Given the description of an element on the screen output the (x, y) to click on. 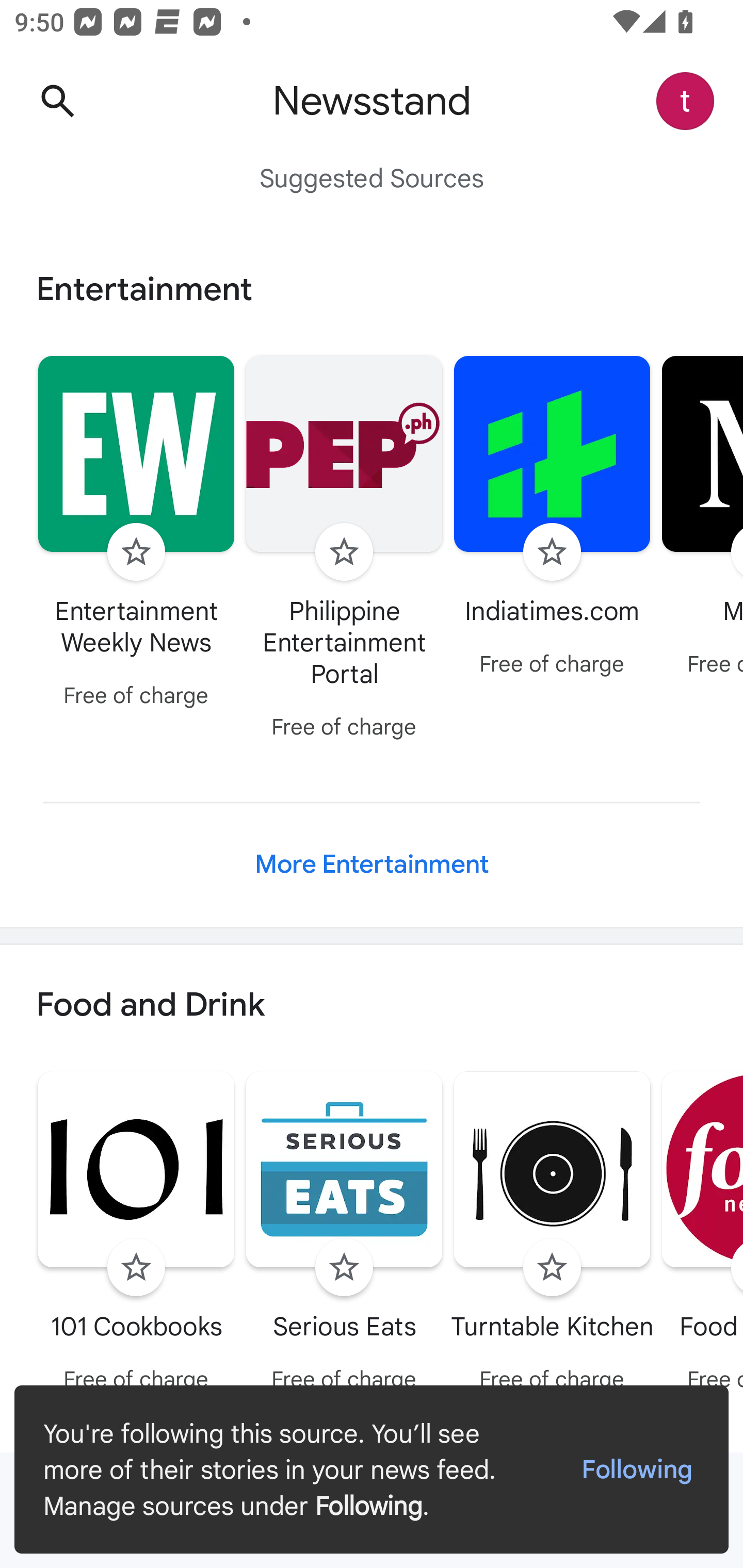
Search (57, 100)
Entertainment (371, 288)
Follow Entertainment Weekly News Free of charge (136, 534)
Follow Indiatimes.com Free of charge (552, 517)
Follow (135, 551)
Follow (343, 551)
Follow (552, 551)
More Entertainment (371, 864)
Food and Drink (371, 1005)
Follow 101 Cookbooks Free of charge (136, 1234)
Follow Serious Eats Free of charge (344, 1234)
Follow Turntable Kitchen Free of charge (552, 1234)
Follow (135, 1267)
Follow (343, 1267)
Follow (552, 1267)
Following (636, 1469)
